Given the description of an element on the screen output the (x, y) to click on. 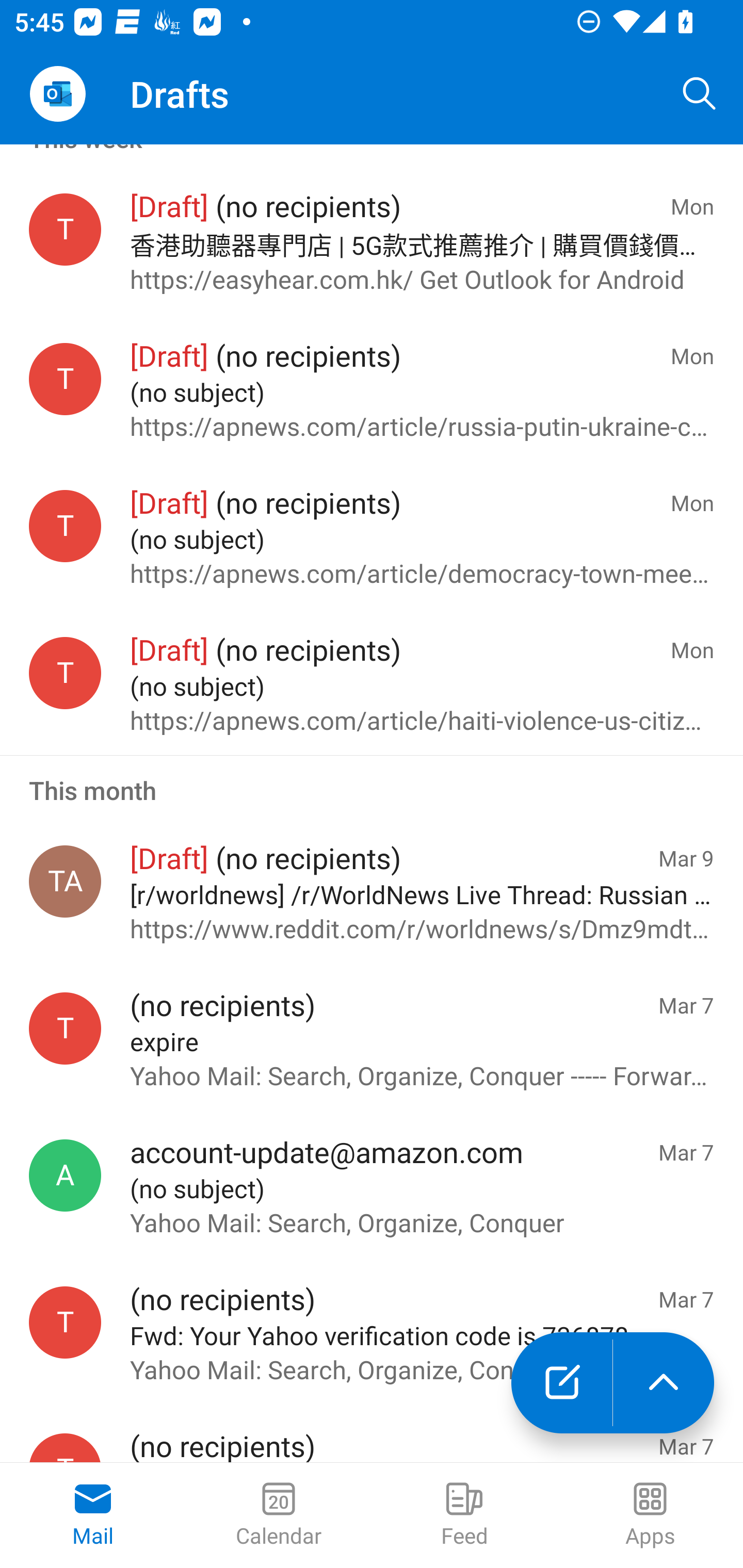
Search, ,  (699, 93)
Close Navigation Drawer (57, 94)
testappium002@outlook.com (64, 228)
testappium002@outlook.com (64, 379)
testappium002@outlook.com (64, 525)
testappium002@outlook.com (64, 672)
Test Appium, testappium002@outlook.com (64, 881)
testappium002@outlook.com (64, 1028)
testappium002@outlook.com (64, 1321)
New mail (561, 1382)
launch the extended action menu (663, 1382)
Calendar (278, 1515)
Feed (464, 1515)
Apps (650, 1515)
